Given the description of an element on the screen output the (x, y) to click on. 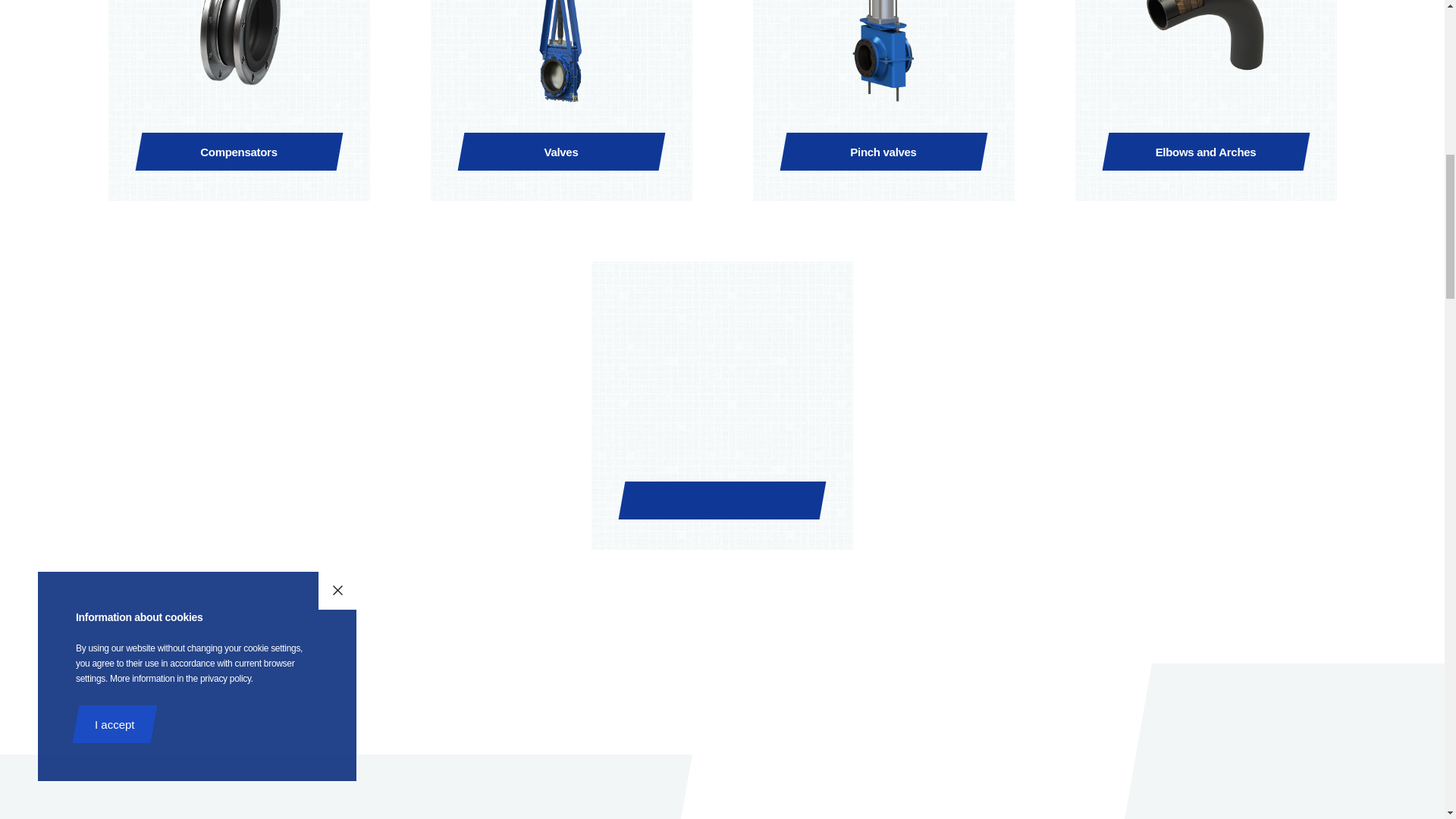
Elbows and Arches (1205, 111)
Compensators (237, 111)
Pinch valves (882, 111)
Valves (560, 111)
